Given the description of an element on the screen output the (x, y) to click on. 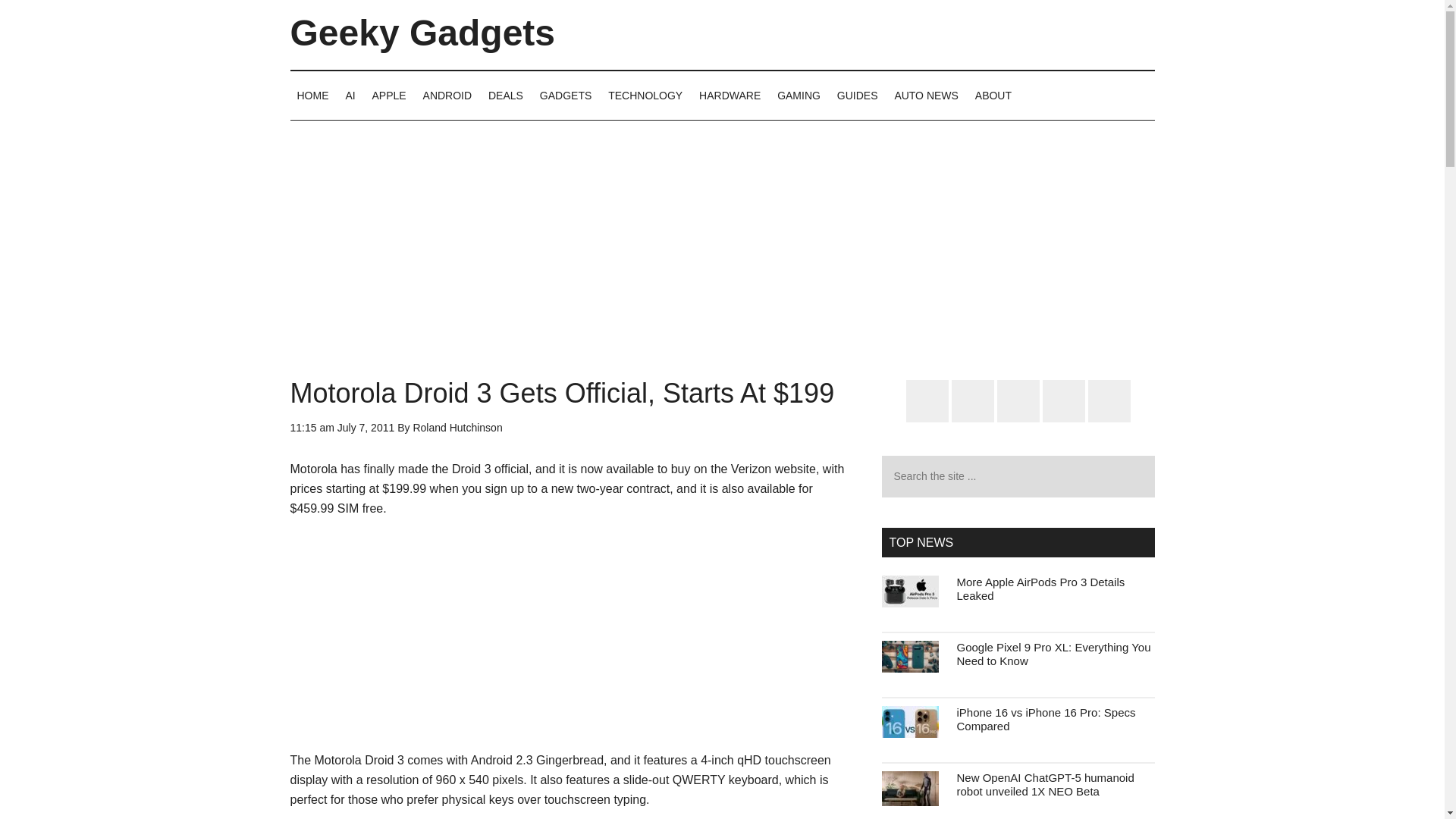
Geeky Gadgets (421, 33)
GADGETS (565, 95)
HARDWARE (730, 95)
ANDROID (447, 95)
GUIDES (857, 95)
About Geeky Gadgets (992, 95)
iPhone 16 vs iPhone 16 Pro: Specs Compared (1045, 718)
